Given the description of an element on the screen output the (x, y) to click on. 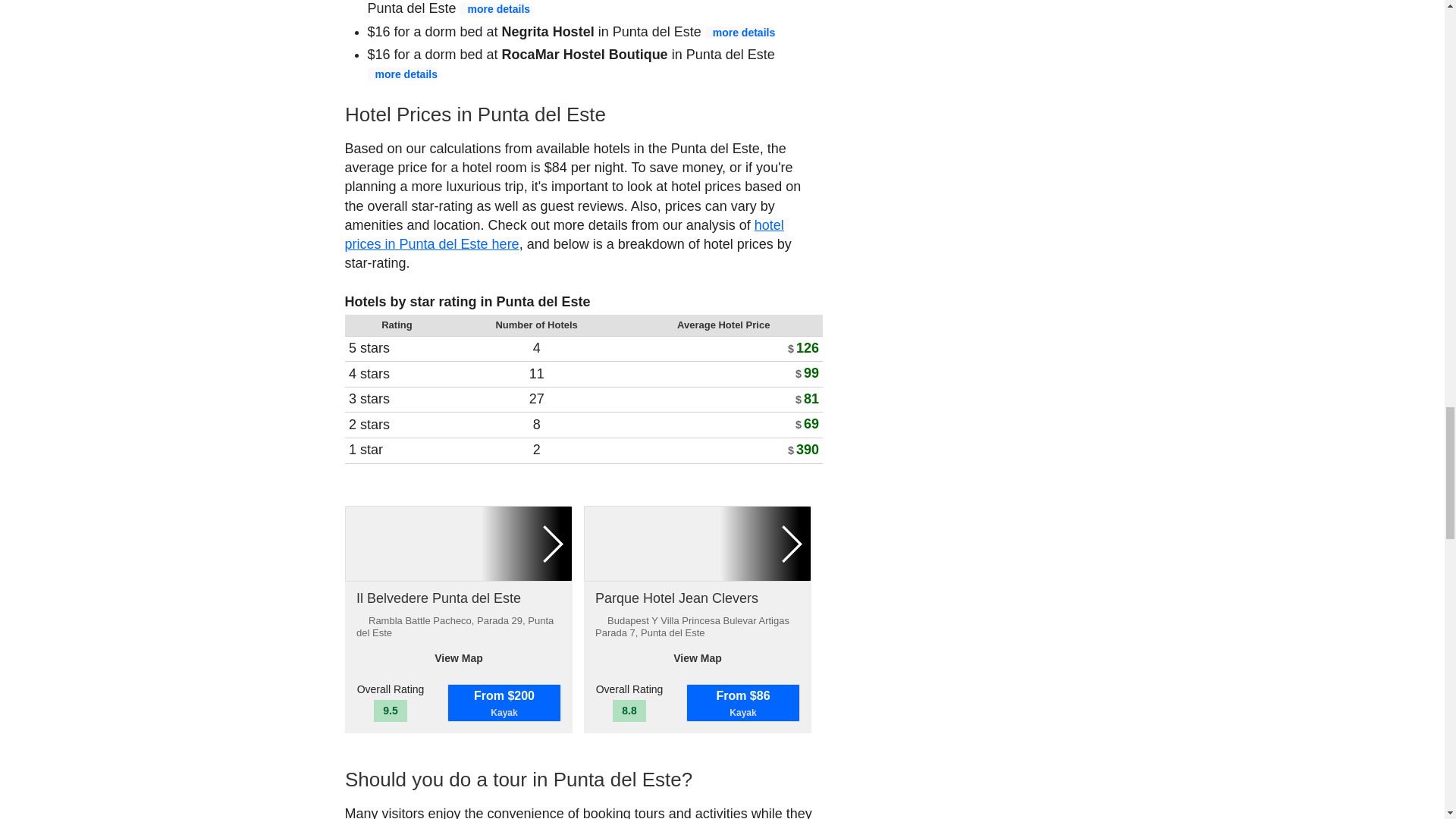
View Map (696, 479)
hotel prices in Punta del Este here (563, 210)
View Map (457, 479)
more details (494, 9)
1 (457, 369)
1 (696, 369)
more details (739, 31)
more details (401, 73)
